Given the description of an element on the screen output the (x, y) to click on. 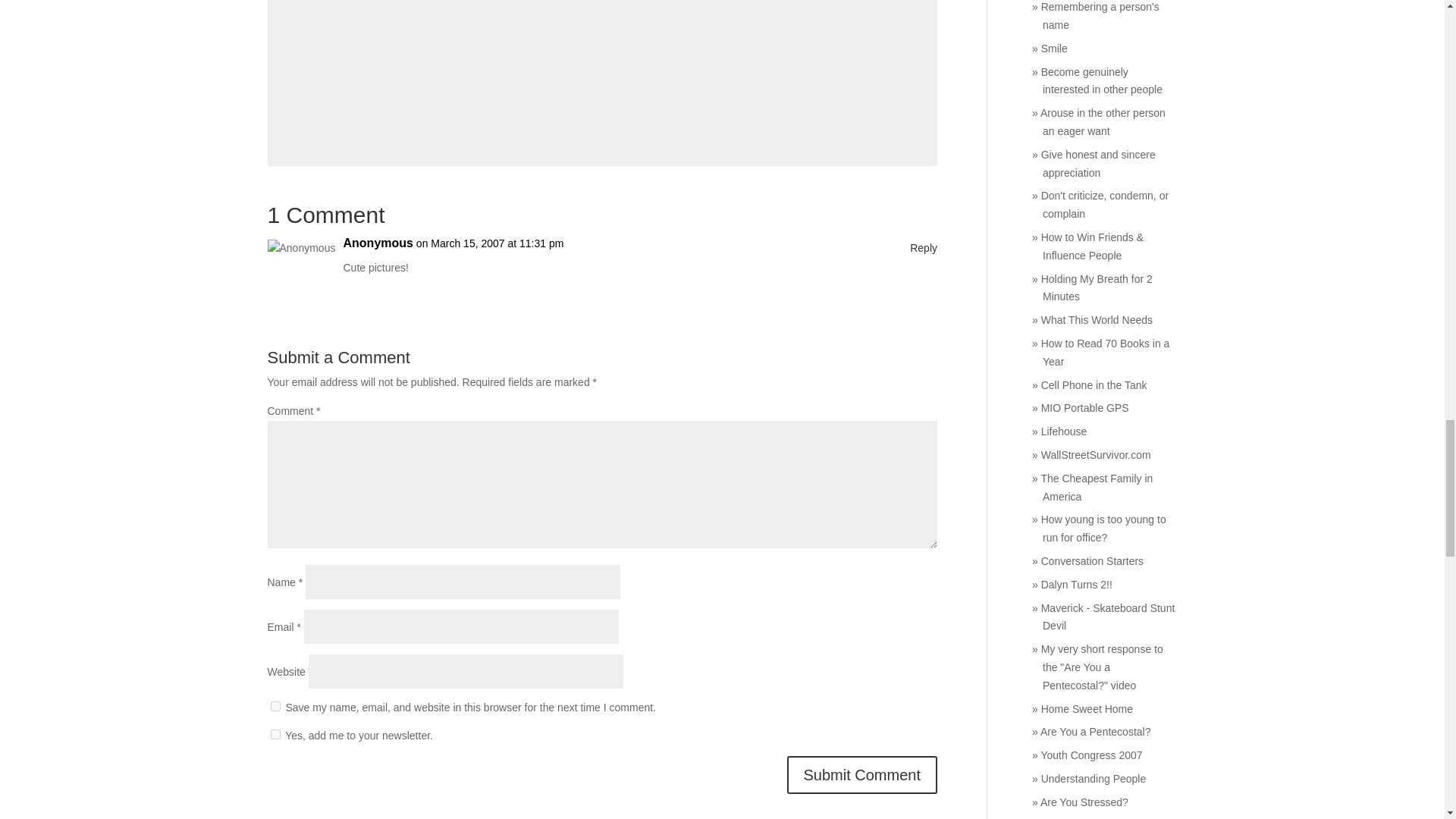
yes (274, 706)
Submit Comment (862, 774)
Submit Comment (862, 774)
1 (274, 734)
Reply (923, 248)
